Given the description of an element on the screen output the (x, y) to click on. 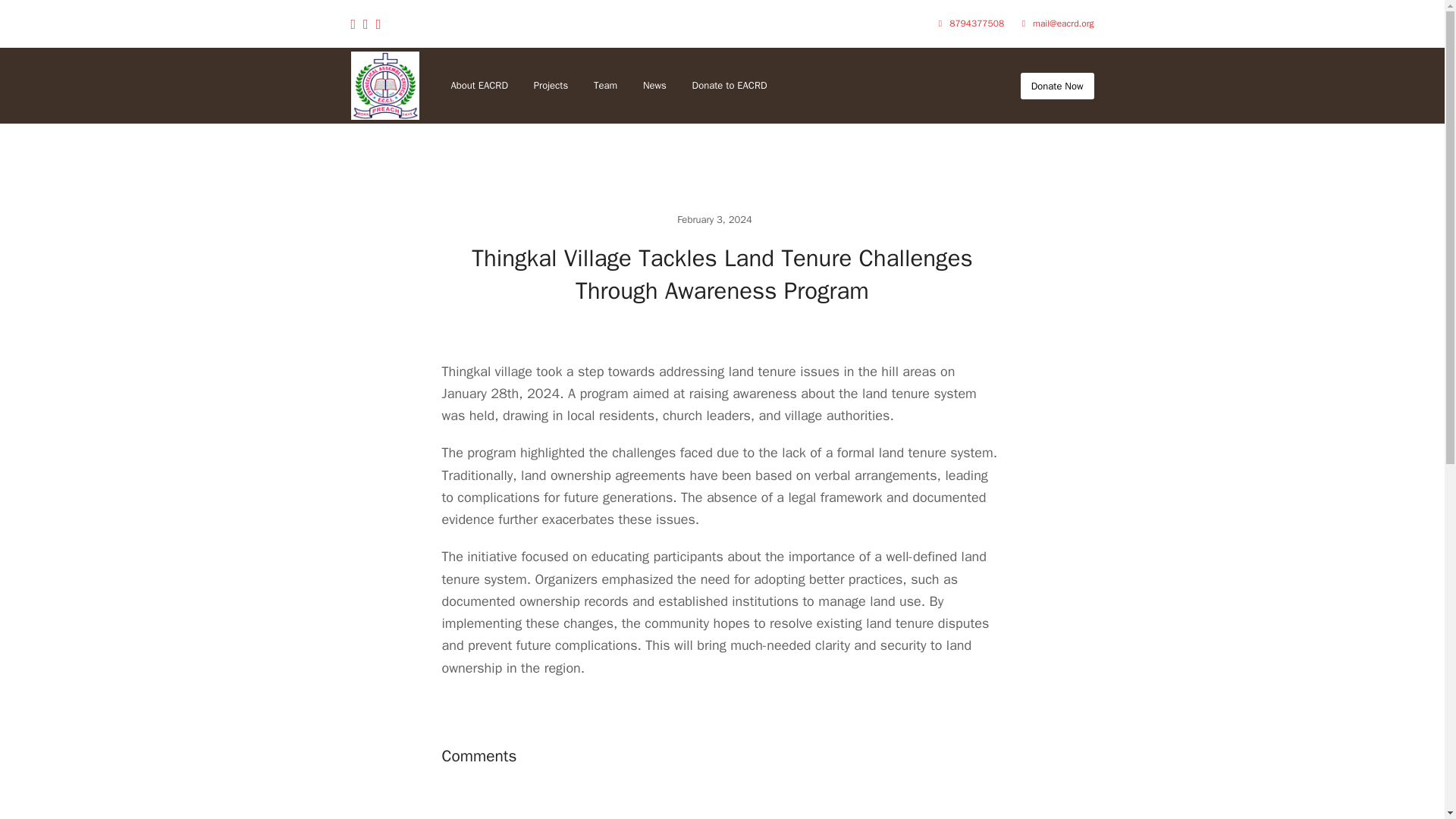
8794377508 (976, 23)
About EACRD (479, 85)
Donate to EACRD (729, 85)
Donate Now (1057, 85)
Team (605, 85)
News (654, 85)
Projects (550, 85)
